Given the description of an element on the screen output the (x, y) to click on. 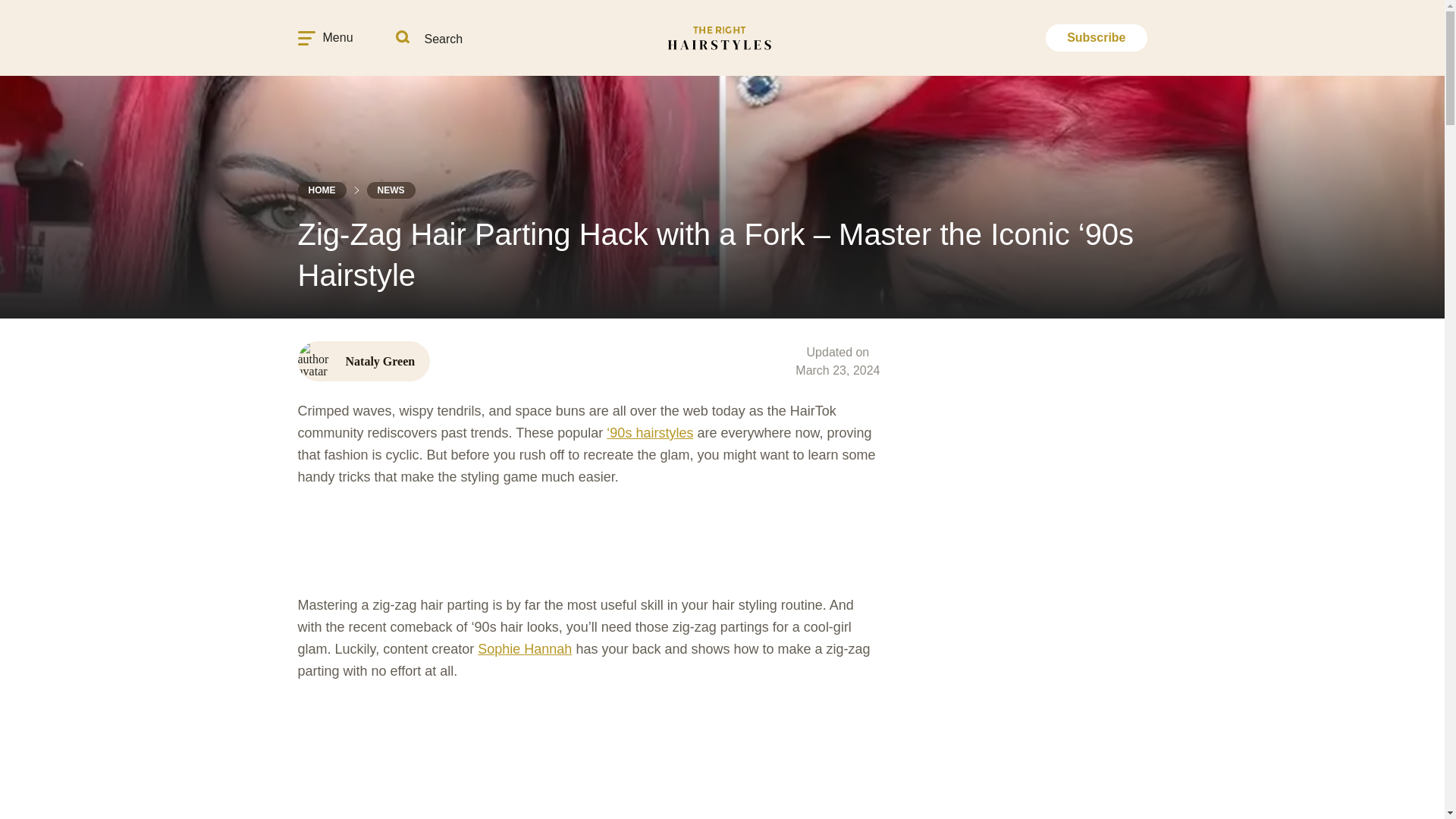
NEWS (390, 190)
Subscribe (1096, 37)
HOME (321, 190)
Sophie Hannah (524, 648)
